Given the description of an element on the screen output the (x, y) to click on. 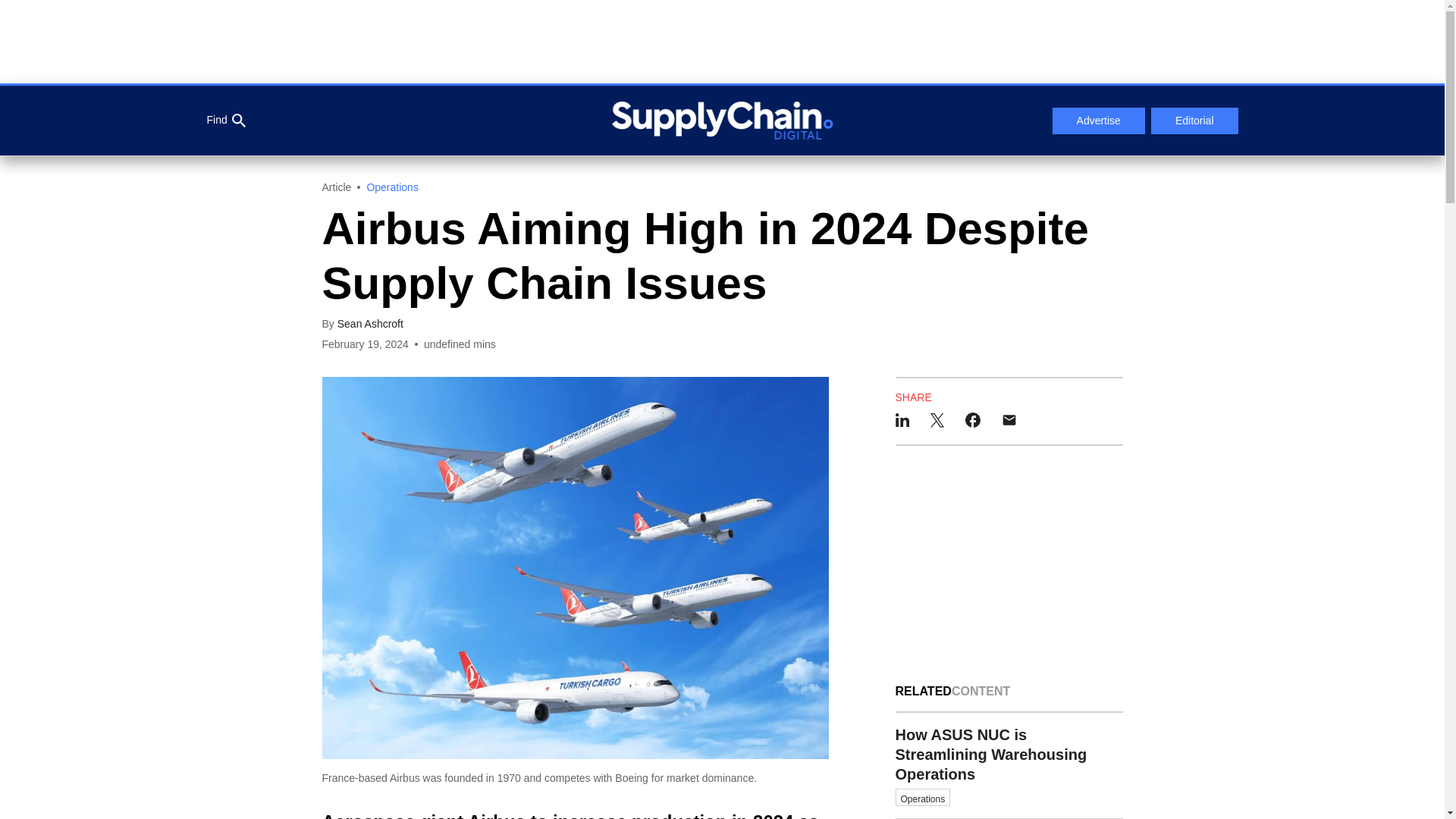
Advertise (1098, 121)
Find (225, 120)
Editorial (1195, 121)
Sean Ashcroft (370, 323)
